Given the description of an element on the screen output the (x, y) to click on. 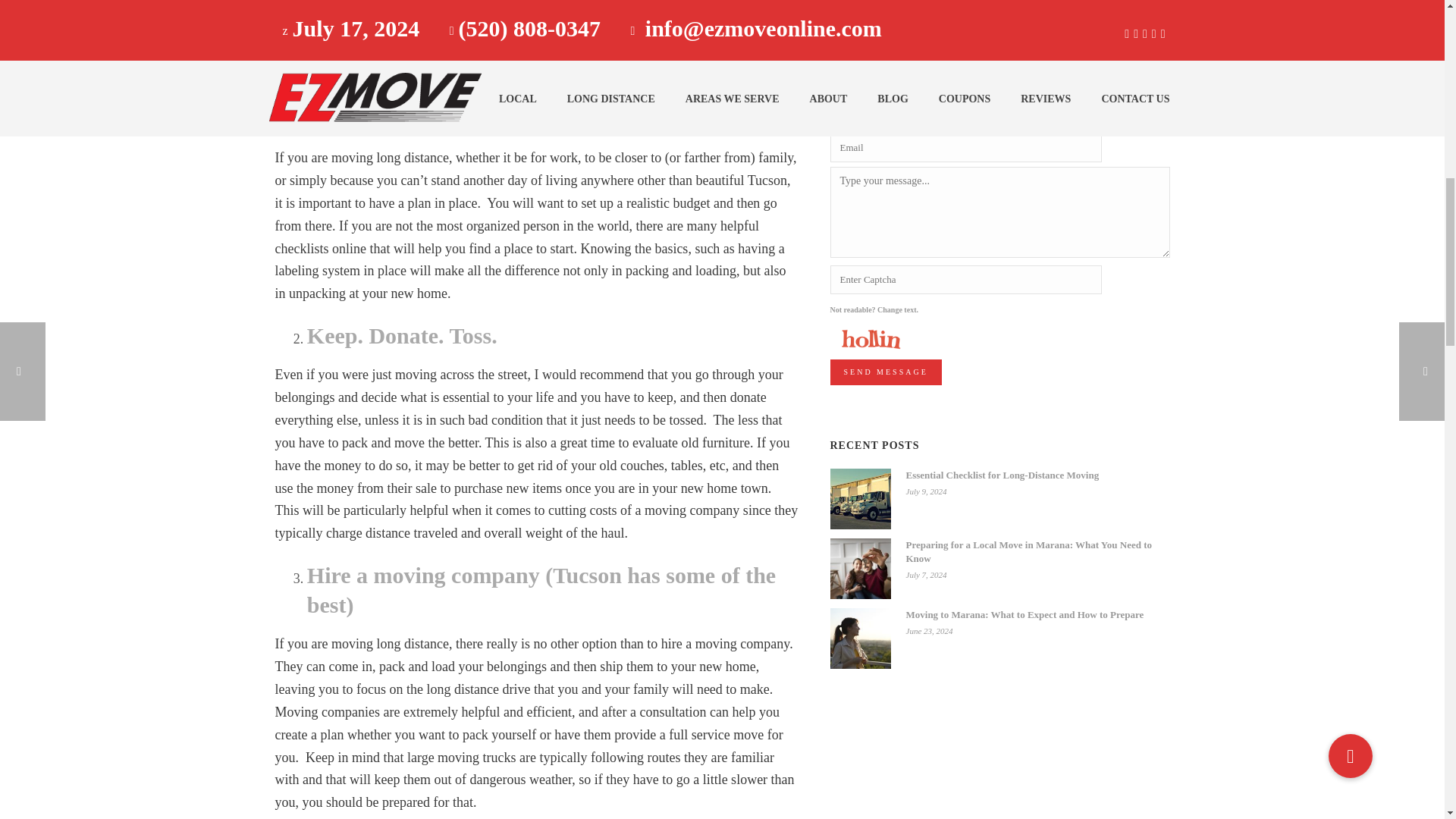
Preparing for a Local Move in Marana: What You Need to Know (859, 568)
Essential Checklist for Long-Distance Moving (859, 498)
Moving to Marana: What to Expect and How to Prepare (859, 638)
